Given the description of an element on the screen output the (x, y) to click on. 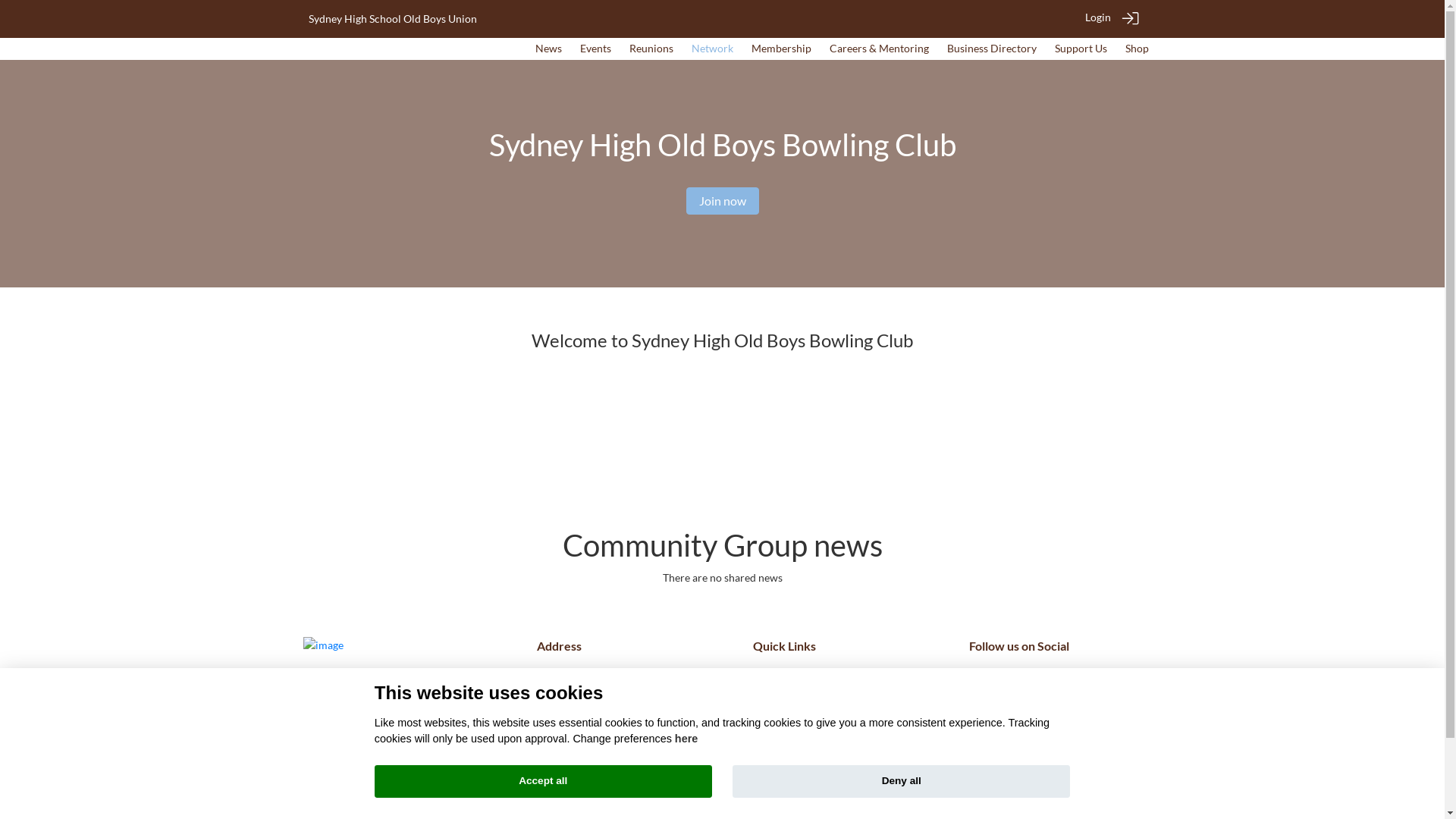
Join now Element type: text (721, 200)
Twitter Element type: hover (980, 681)
Careers & Mentoring Element type: text (878, 47)
Instagram Element type: hover (1056, 681)
Network Element type: text (712, 47)
Contact Us Element type: text (778, 742)
Membership Element type: text (780, 47)
Facebook Element type: hover (1005, 681)
Shop Element type: text (1136, 47)
Reunions Element type: text (651, 47)
Privacy Element type: text (769, 693)
here Element type: text (685, 739)
Events Element type: text (594, 47)
Cookies Element type: text (771, 709)
News Element type: text (548, 47)
Support Us Element type: text (1080, 47)
The Record Element type: text (779, 771)
LinkedIn Element type: hover (1030, 681)
Terms Element type: text (766, 676)
Community Group news Element type: text (722, 545)
Login Element type: text (1097, 16)
+61 (0) 411 452 856 Element type: text (583, 752)
Business Directory Element type: text (990, 47)
president@shsobu.org.au  Element type: text (597, 768)
Accept all Element type: text (543, 781)
Deny all Element type: text (901, 781)
About Us Element type: text (774, 725)
Sydney High School Old Boys Union Element type: text (391, 18)
